Given the description of an element on the screen output the (x, y) to click on. 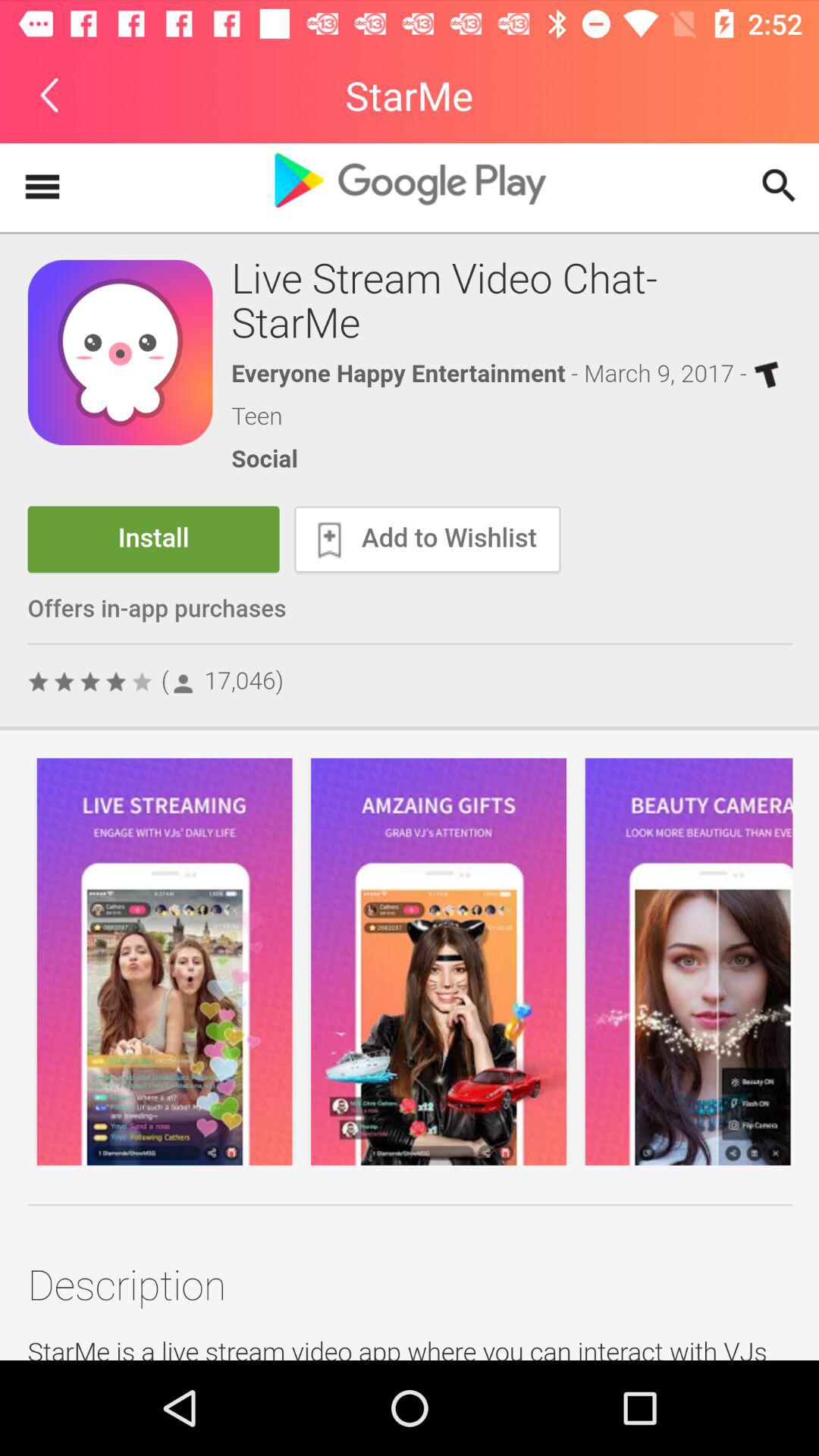
scroll through text (409, 751)
